Given the description of an element on the screen output the (x, y) to click on. 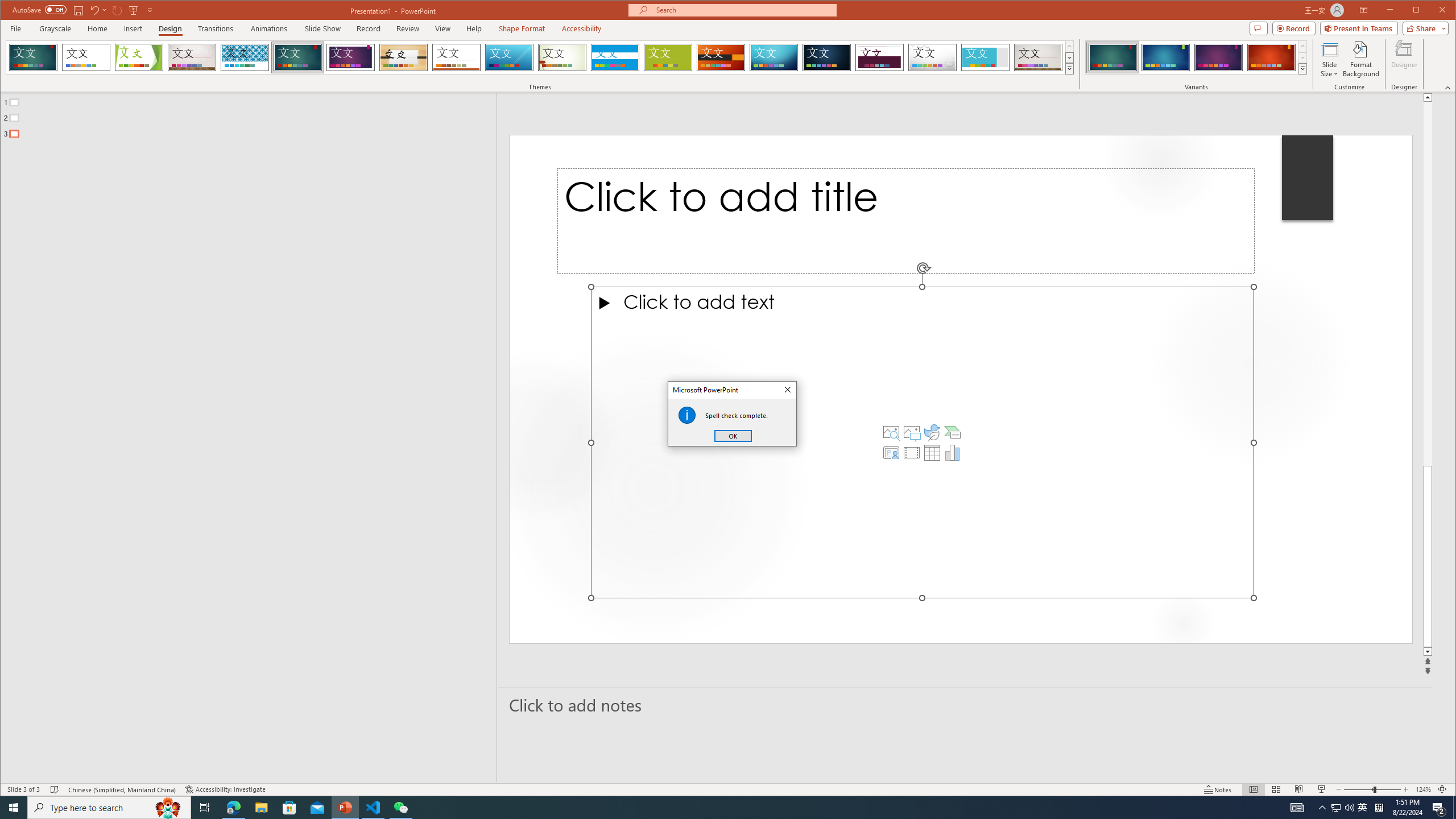
Wisp (561, 57)
Dividend (879, 57)
Berlin (720, 57)
Integral (244, 57)
Ion Variant 2 (1165, 57)
Insert a SmartArt Graphic (952, 432)
